Given the description of an element on the screen output the (x, y) to click on. 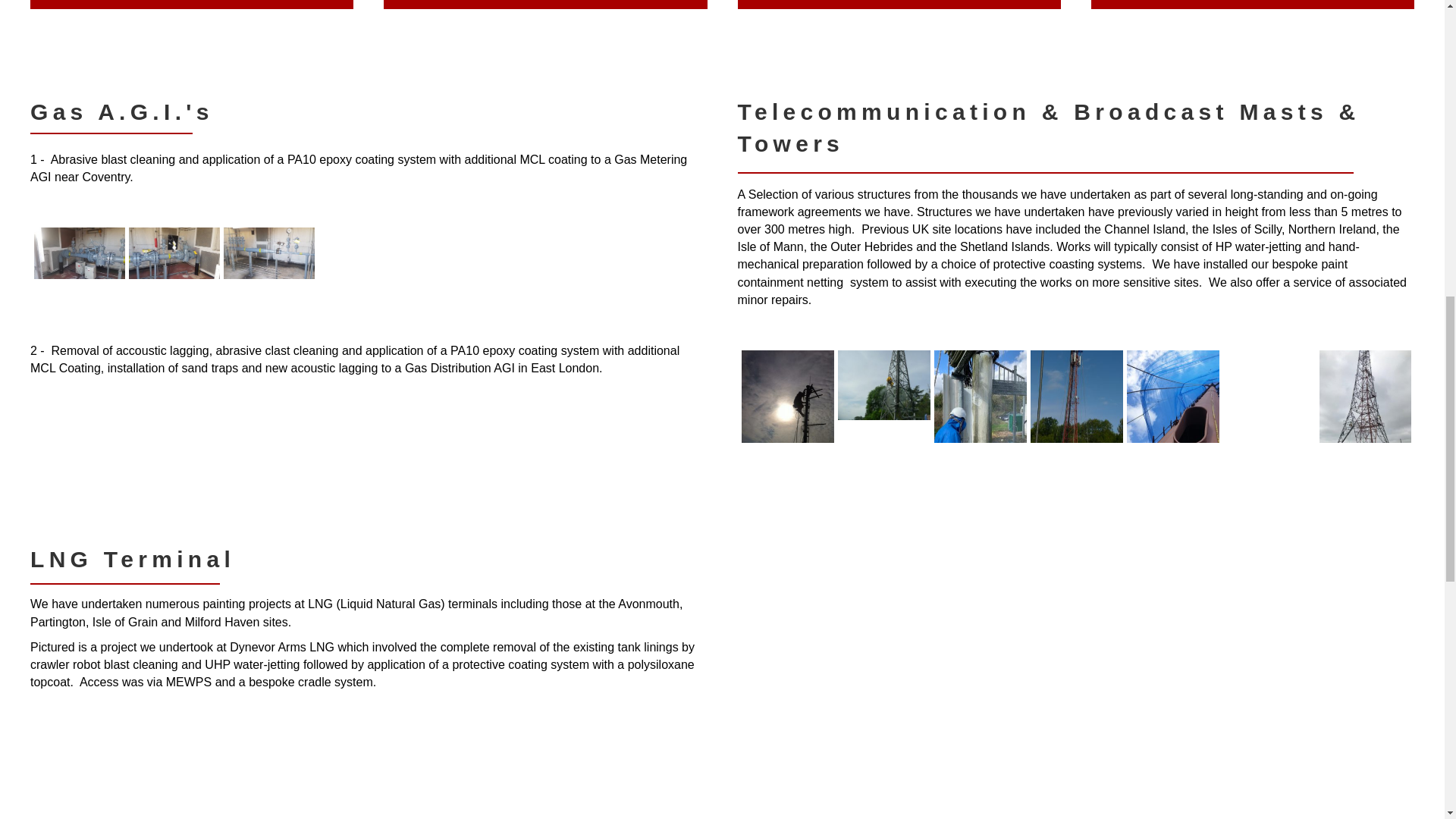
1c (269, 253)
LNG-2 (174, 775)
LNG-1 (79, 775)
1a (79, 253)
2b (174, 463)
1b (174, 253)
LNG-4 (363, 775)
LNG-3 (269, 775)
2 (883, 385)
2a (79, 463)
